Given the description of an element on the screen output the (x, y) to click on. 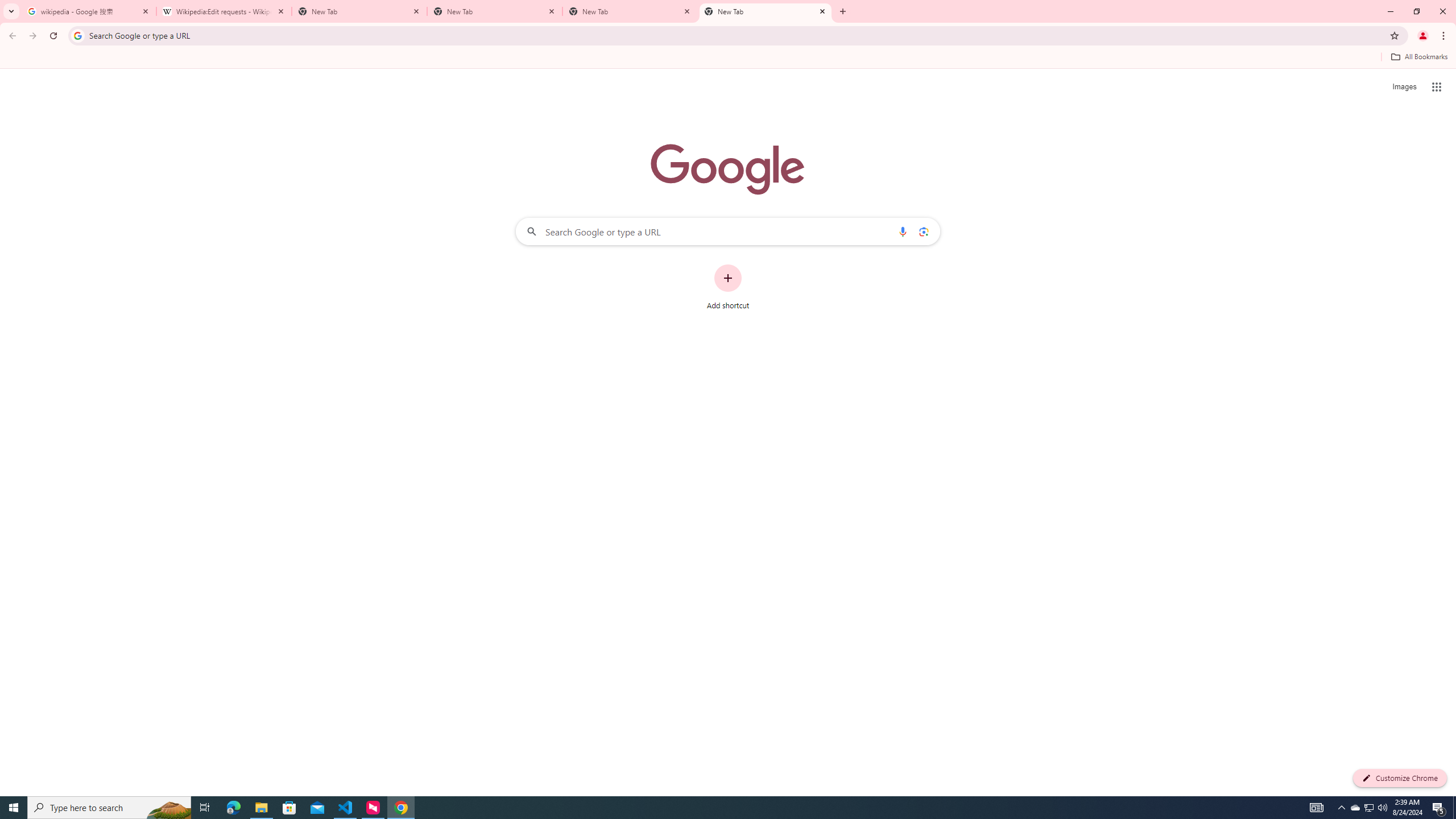
Wikipedia:Edit requests - Wikipedia (224, 11)
